Given the description of an element on the screen output the (x, y) to click on. 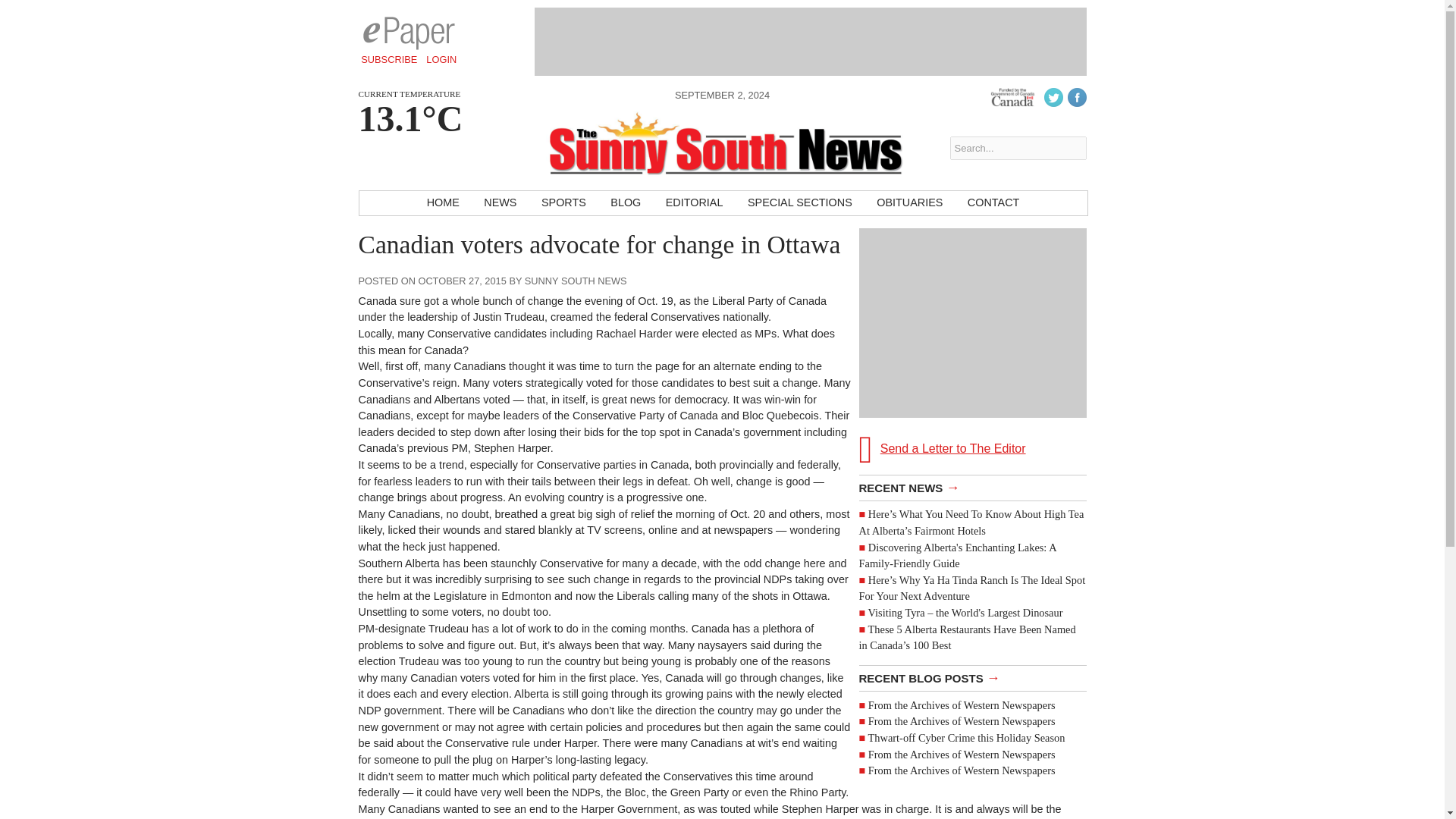
SPORTS (563, 202)
From the Archives of Western Newspapers (961, 720)
Send a Letter to The Editor (972, 348)
SUBSCRIBE (389, 58)
From the Archives of Western Newspapers (961, 705)
BLOG (624, 202)
SPECIAL SECTIONS (799, 202)
Thwart-off Cyber Crime this Holiday Season (966, 737)
LOGIN (441, 58)
